Given the description of an element on the screen output the (x, y) to click on. 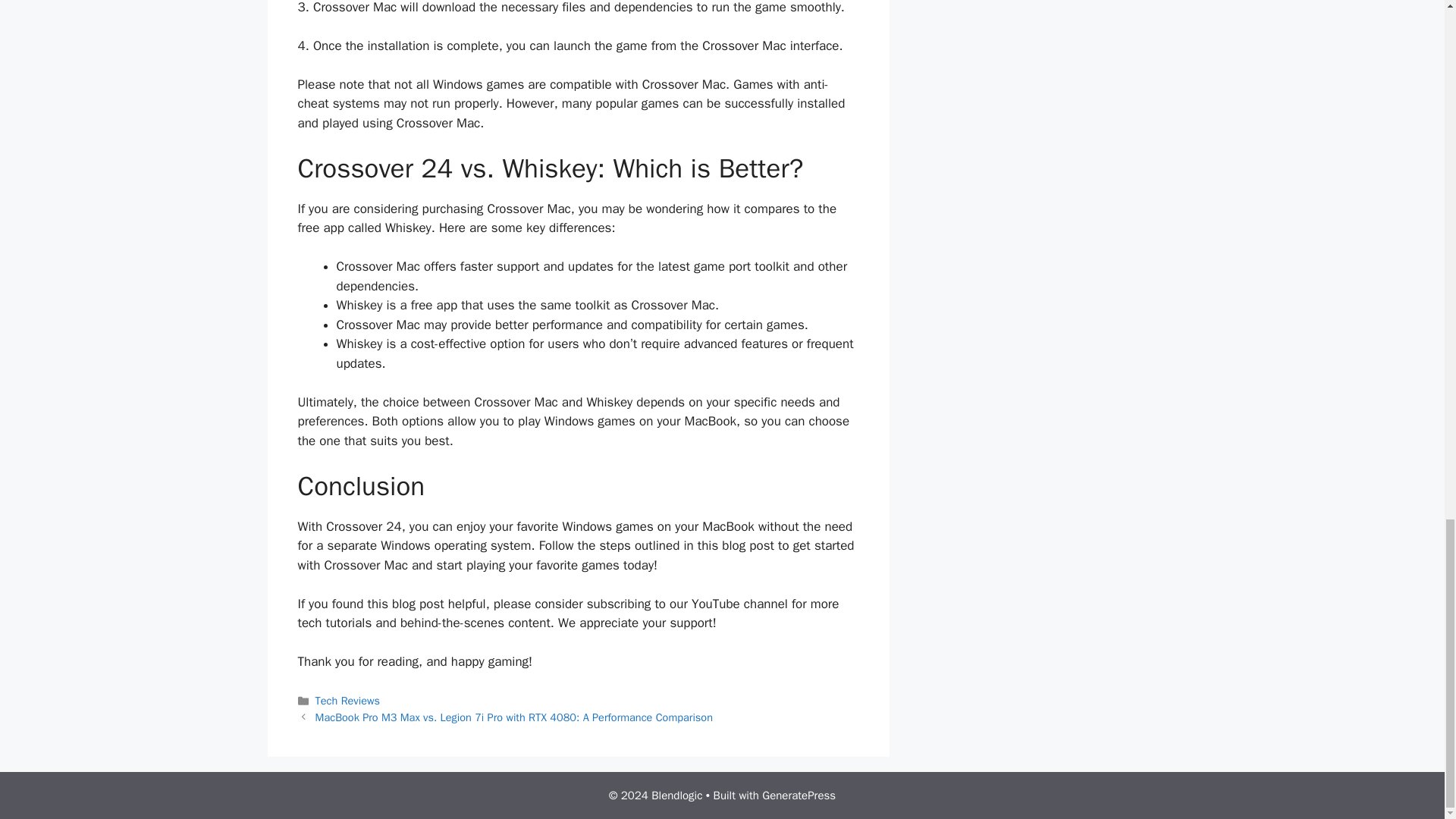
Tech Reviews (347, 700)
GeneratePress (798, 795)
